Given the description of an element on the screen output the (x, y) to click on. 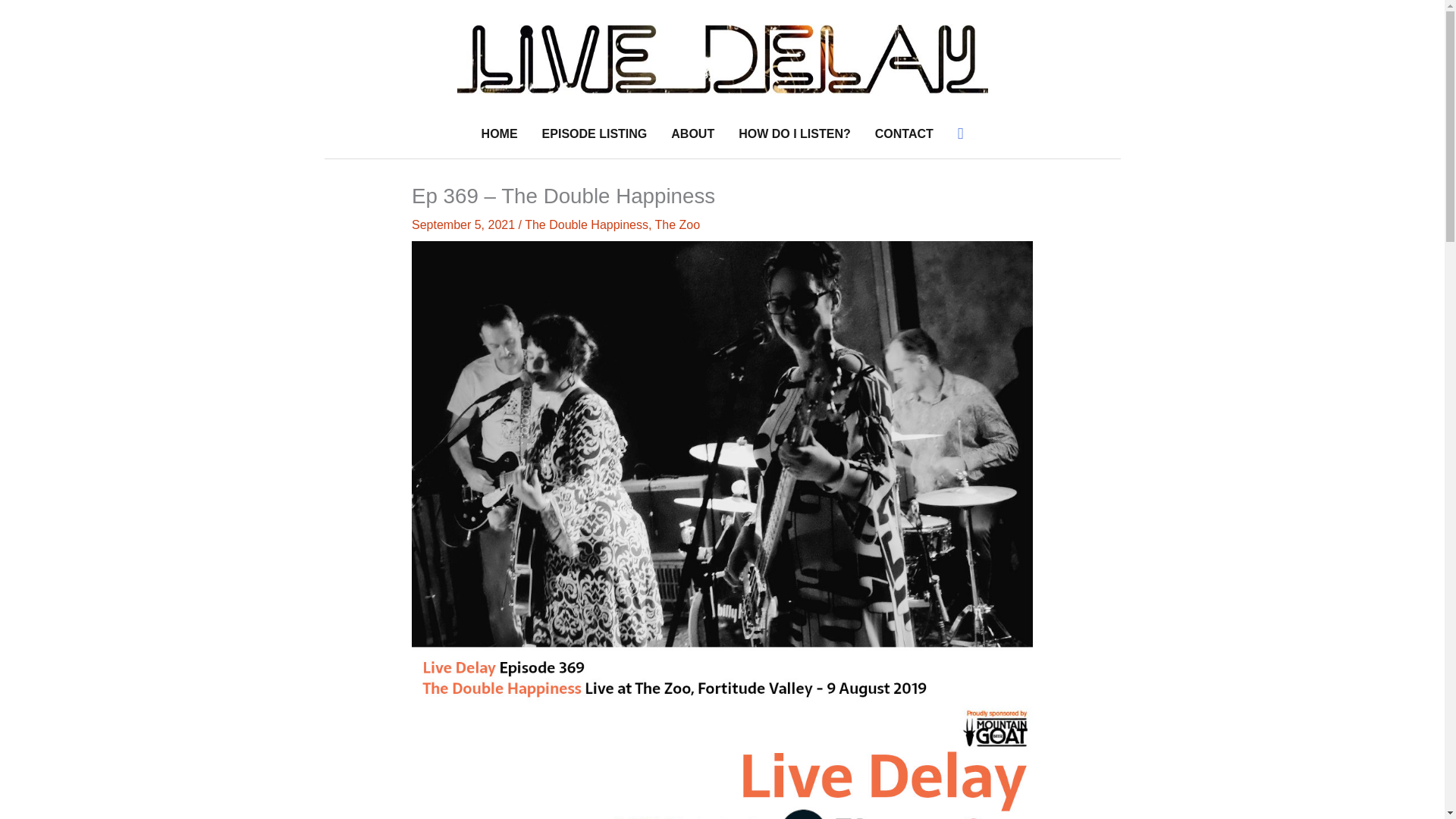
EPISODE LISTING (594, 133)
The Zoo (677, 224)
ABOUT (692, 133)
HOW DO I LISTEN? (794, 133)
CONTACT (903, 133)
HOME (498, 133)
The Double Happiness (585, 224)
